Given the description of an element on the screen output the (x, y) to click on. 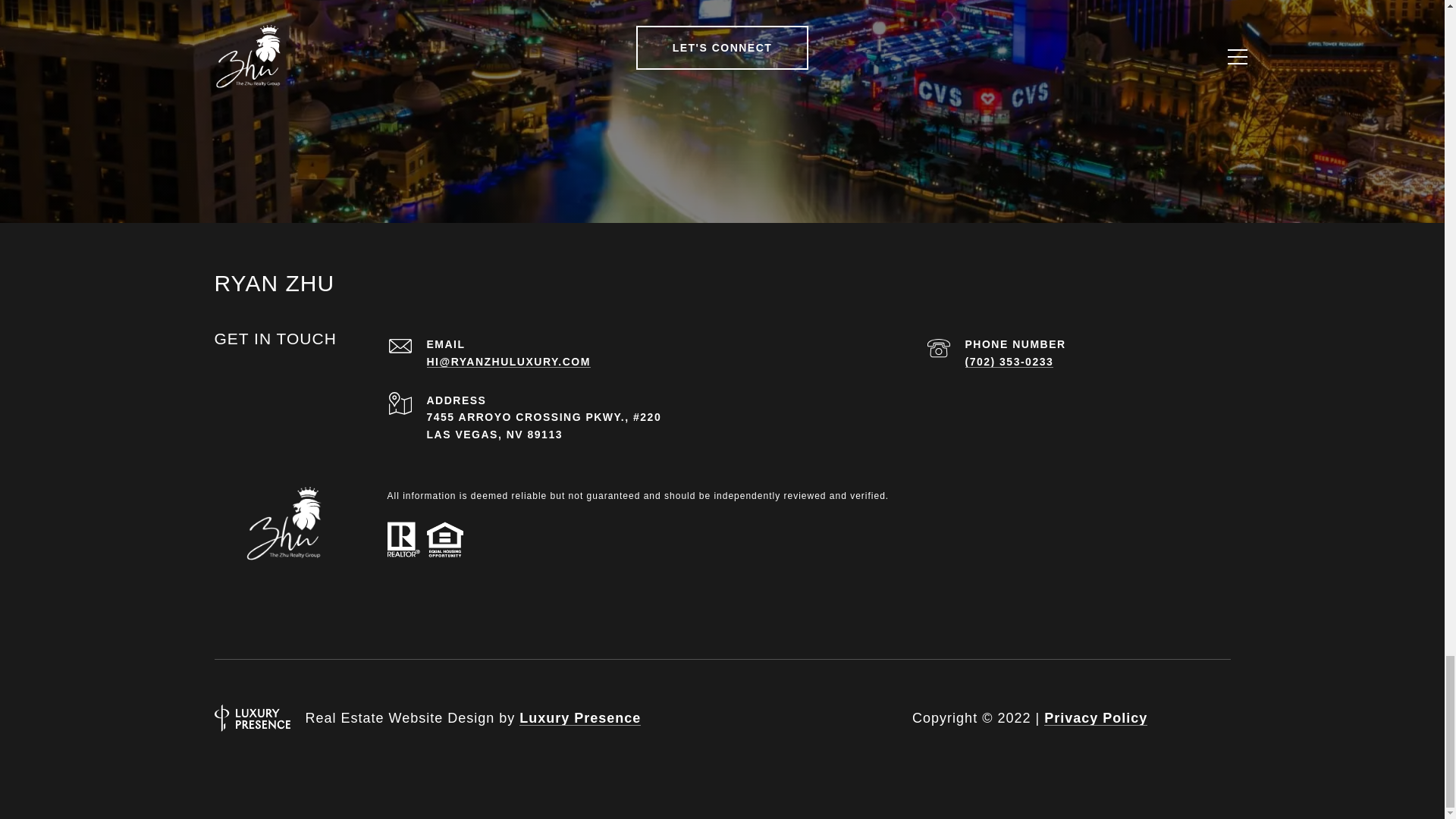
LET'S CONNECT (722, 47)
